Given the description of an element on the screen output the (x, y) to click on. 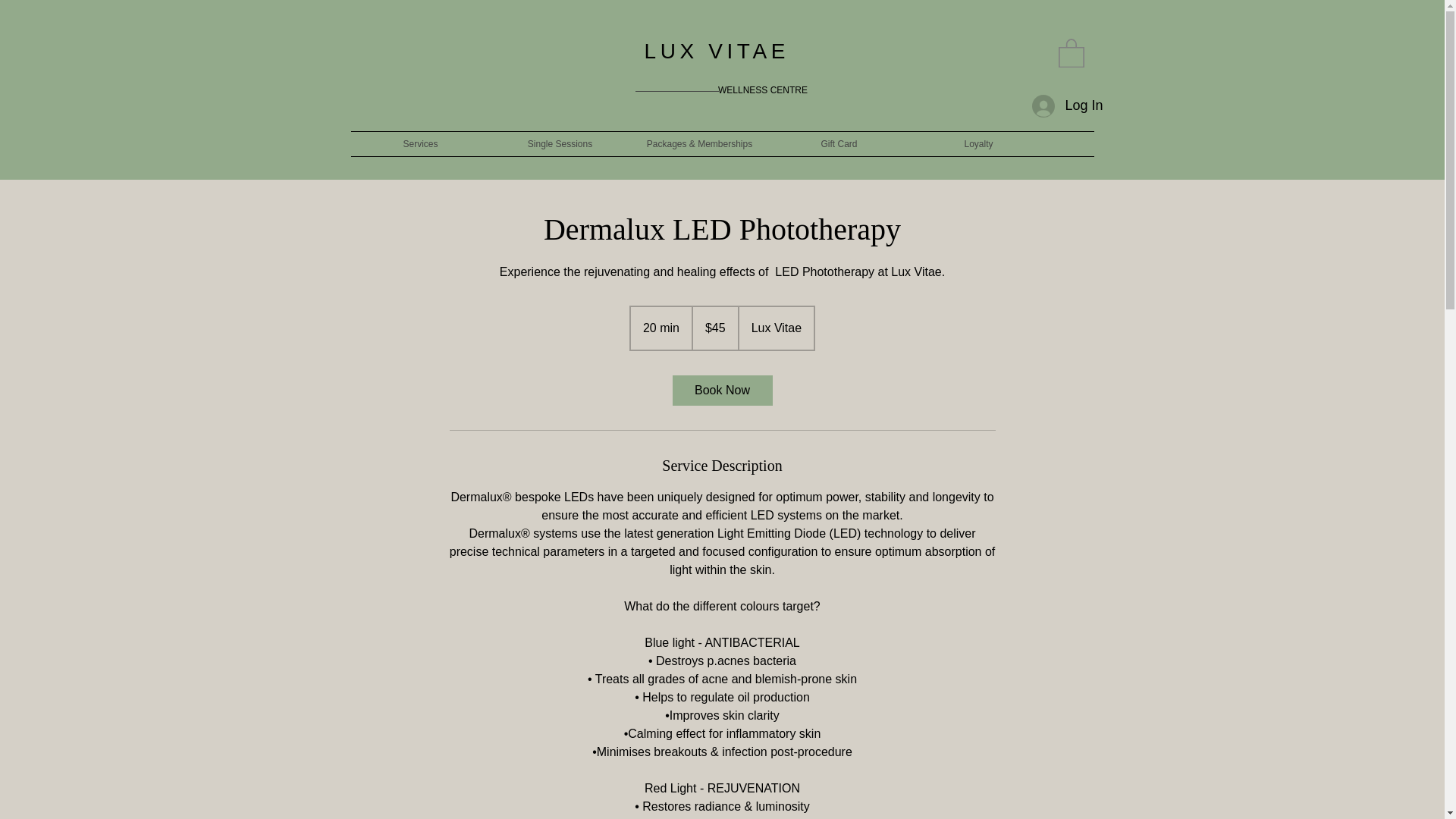
Loyalty (978, 143)
Single Sessions (558, 143)
LUX VITAE  (722, 51)
Log In (1053, 105)
Gift Card (838, 143)
Services (419, 143)
Book Now (721, 390)
WELLNESS CENTRE (762, 90)
